Given the description of an element on the screen output the (x, y) to click on. 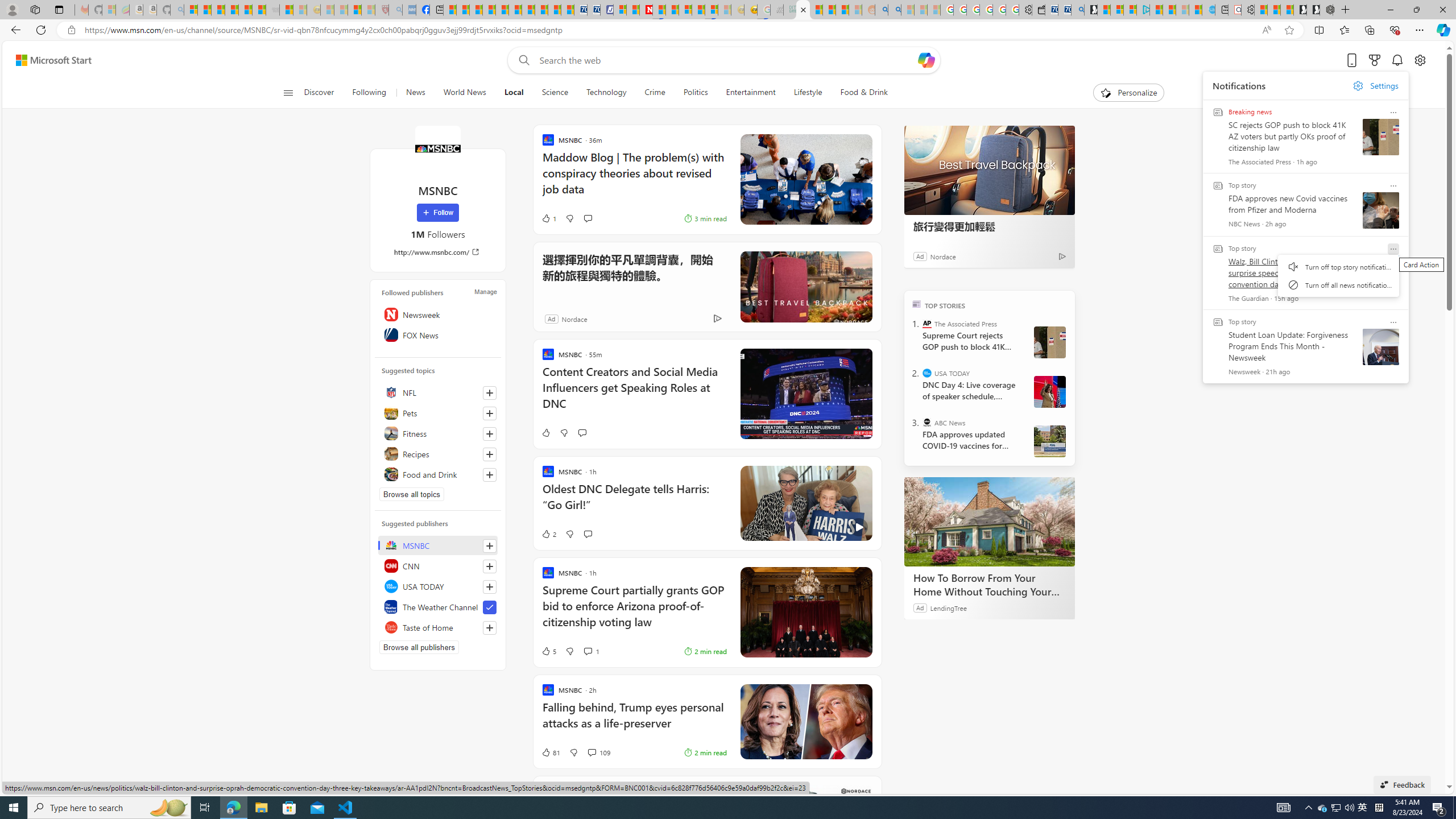
USA TODAY (927, 372)
Newsweek (437, 314)
New Report Confirms 2023 Was Record Hot | Watch (245, 9)
